Given the description of an element on the screen output the (x, y) to click on. 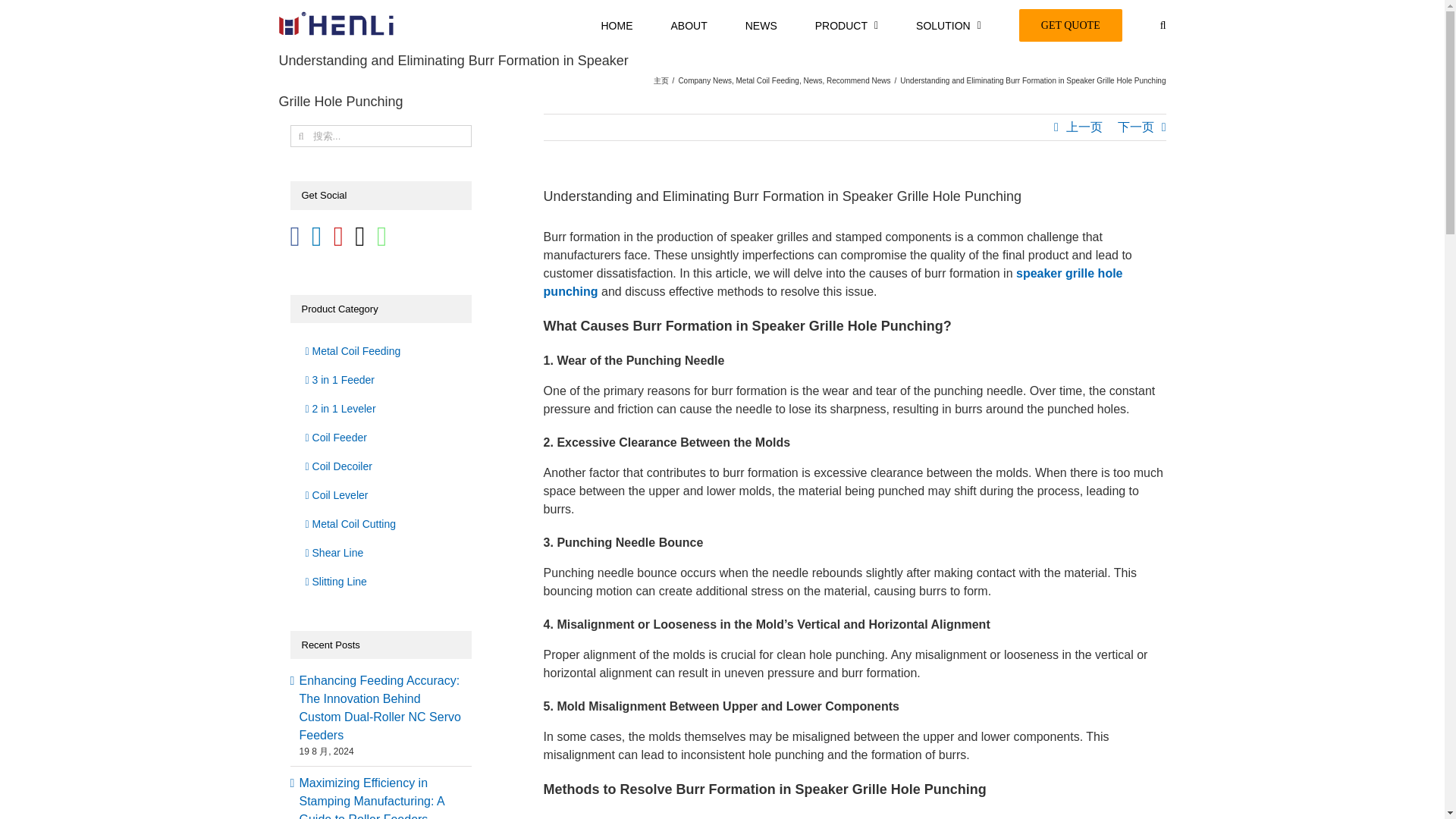
Company News (705, 80)
News (812, 80)
Metal Coil Feeding (767, 80)
GET QUOTE (1070, 23)
SOLUTION (948, 23)
PRODUCT (846, 23)
